Given the description of an element on the screen output the (x, y) to click on. 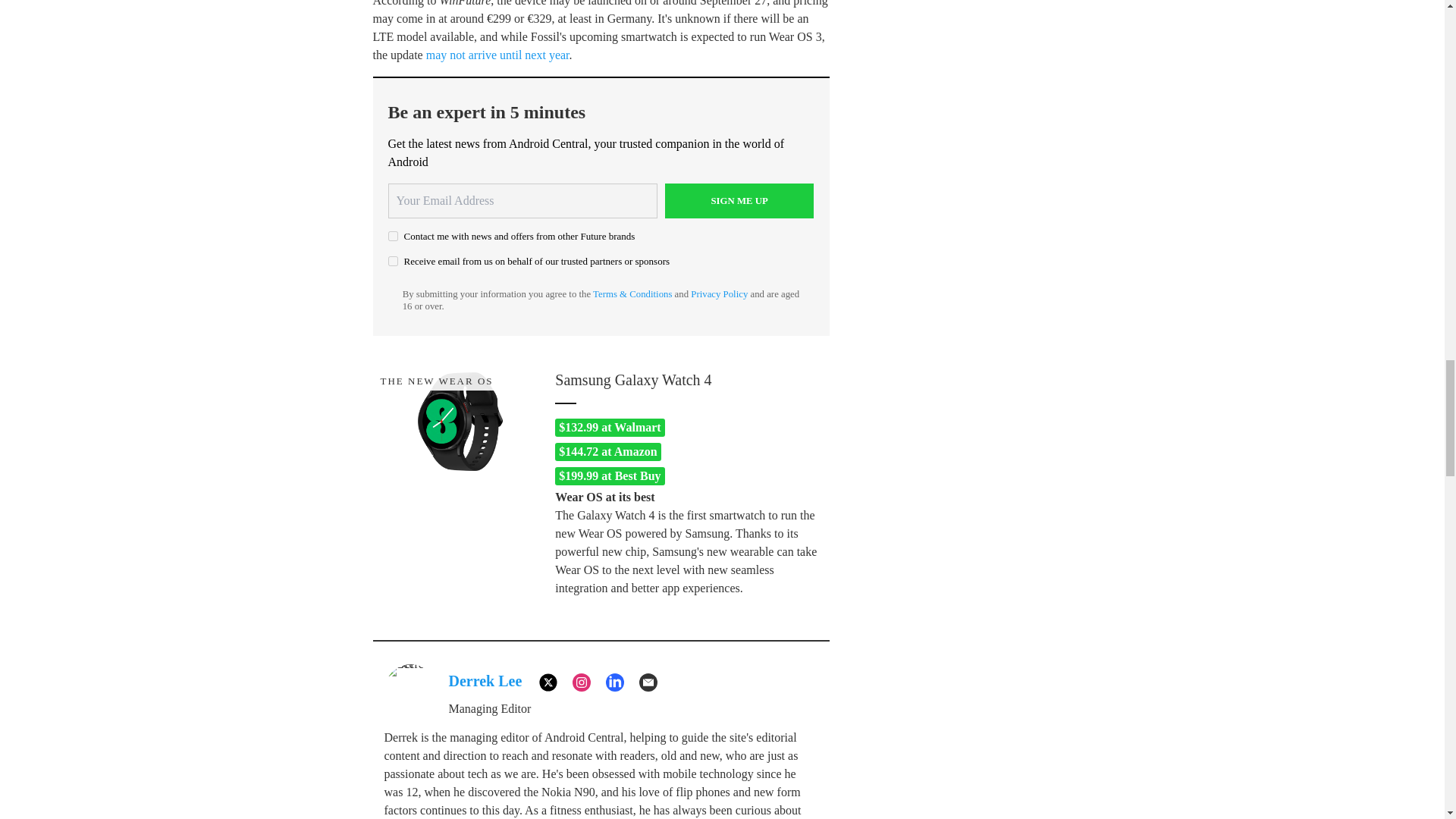
Sign me up (739, 200)
on (392, 261)
on (392, 235)
